Given the description of an element on the screen output the (x, y) to click on. 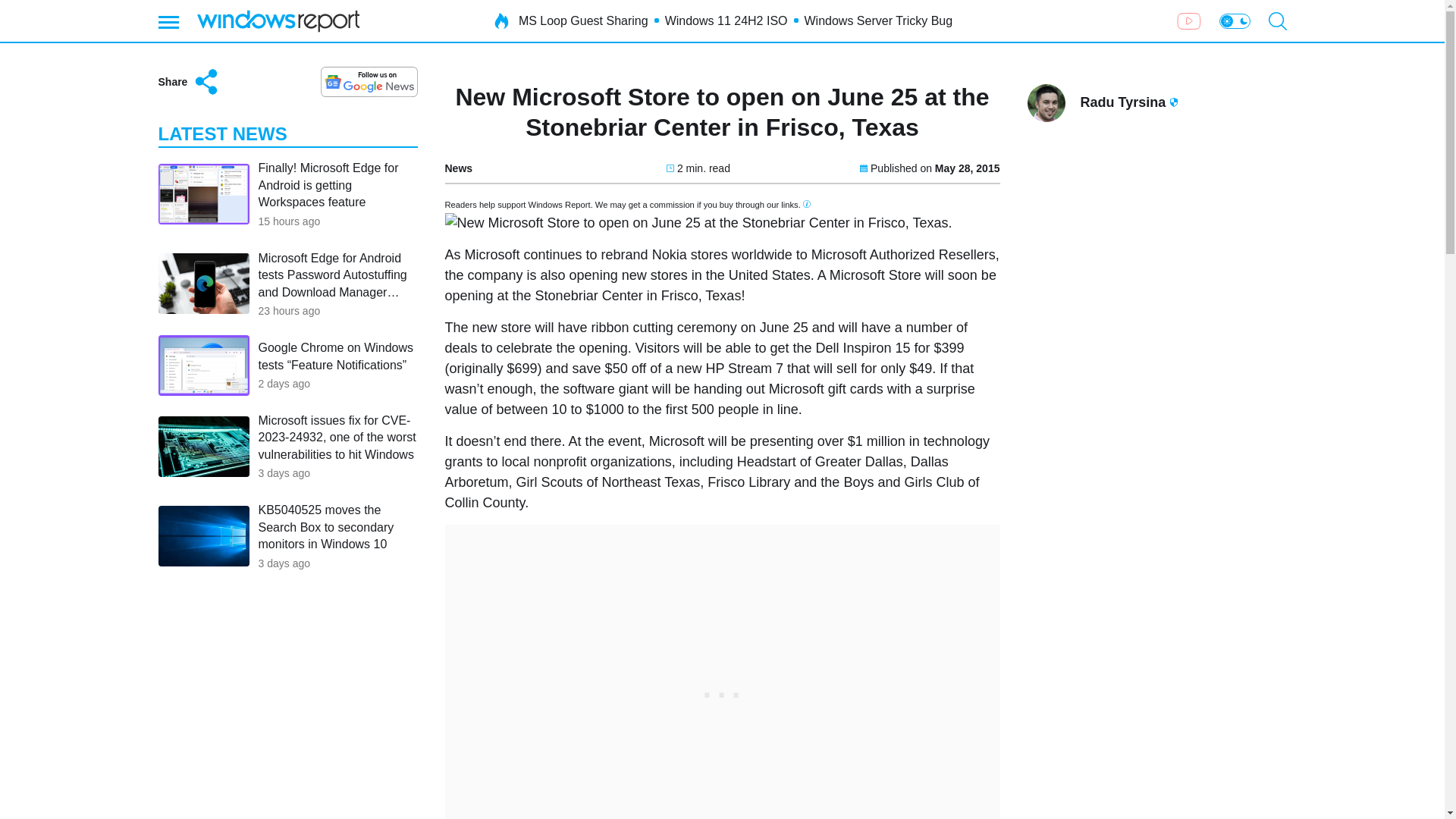
Share (189, 81)
Windows 11 24H2 ISO (726, 21)
News (457, 168)
MS Loop Guest Sharing (582, 21)
Share this article (189, 81)
Open search bar (1276, 21)
